Given the description of an element on the screen output the (x, y) to click on. 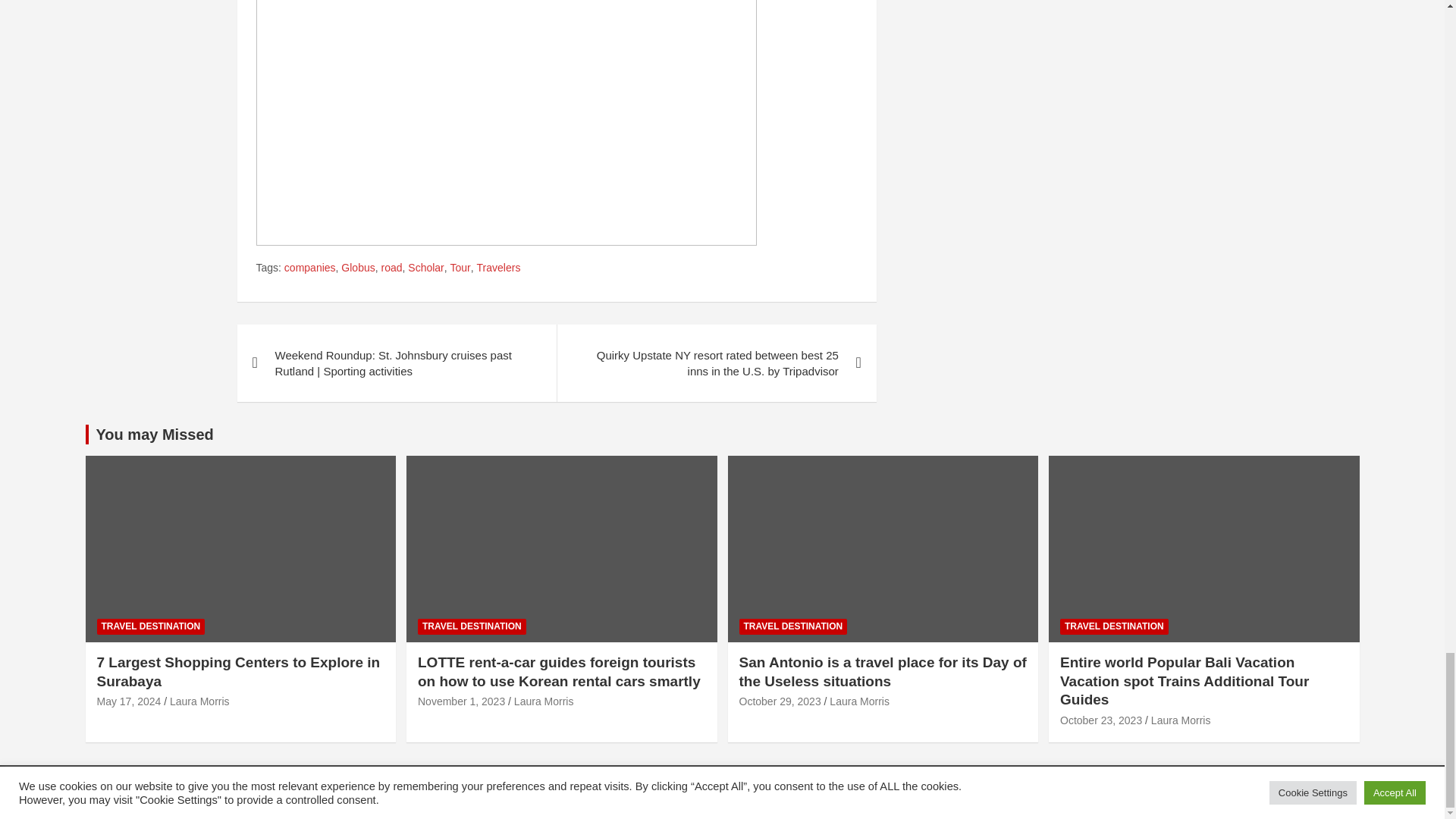
Theme Horse (377, 791)
Find My Homestay (224, 791)
7 Largest Shopping Centers to Explore in Surabaya (129, 701)
WordPress (563, 791)
